Given the description of an element on the screen output the (x, y) to click on. 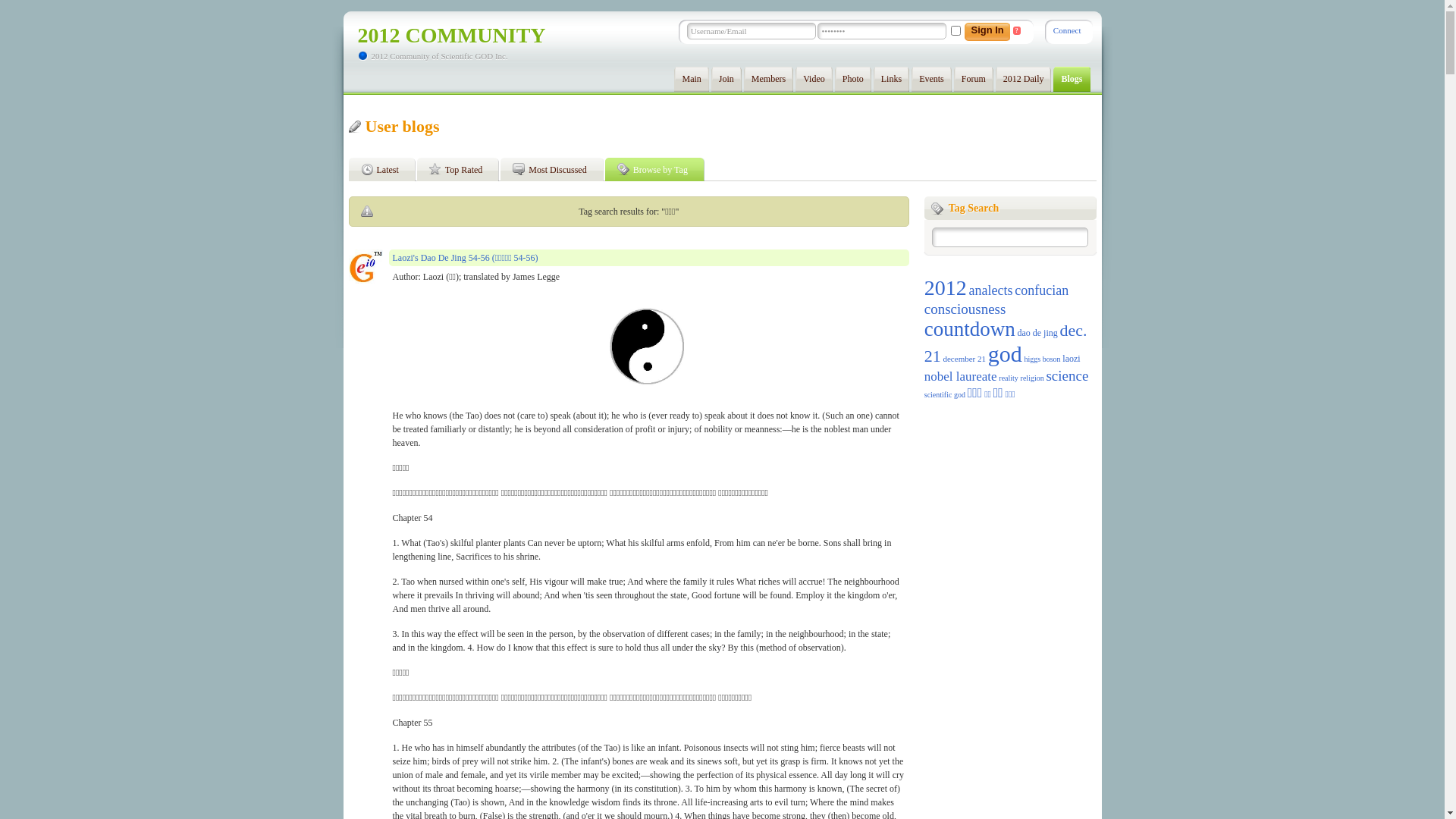
countdown Element type: text (969, 328)
Links Element type: text (891, 78)
2012 COMMUNITY Element type: text (451, 35)
nobel laureate Element type: text (960, 376)
dao de jing Element type: text (1036, 332)
consciousness Element type: text (965, 308)
Blogs Element type: text (1071, 78)
scientific god Element type: text (944, 394)
Join Element type: text (726, 78)
Latest Element type: text (384, 169)
Main Element type: text (691, 78)
Members Element type: text (768, 78)
Administrator Element type: hover (365, 266)
Events Element type: text (931, 78)
? Element type: text (1016, 30)
Connect Element type: text (1067, 29)
december 21 Element type: text (963, 358)
god Element type: text (1005, 353)
Video Element type: text (813, 78)
2012 Daily Element type: text (1023, 78)
2012 Element type: text (945, 287)
reality Element type: text (1008, 377)
laozi Element type: text (1070, 358)
Forum Element type: text (973, 78)
Browse by Tag Element type: text (657, 169)
dec. 21 Element type: text (1005, 342)
science Element type: text (1066, 375)
Top Rated Element type: text (460, 169)
religion Element type: text (1032, 377)
analects Element type: text (990, 290)
Photo Element type: text (852, 78)
higgs boson Element type: text (1041, 358)
Sign In Element type: text (984, 31)
Most Discussed Element type: text (554, 169)
confucian Element type: text (1041, 290)
